Given the description of an element on the screen output the (x, y) to click on. 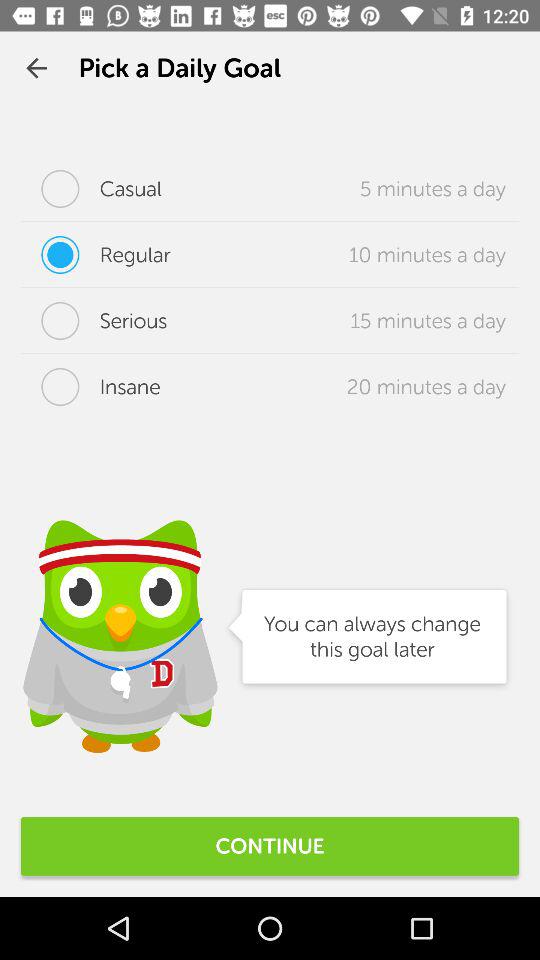
choose icon below the serious item (90, 387)
